Given the description of an element on the screen output the (x, y) to click on. 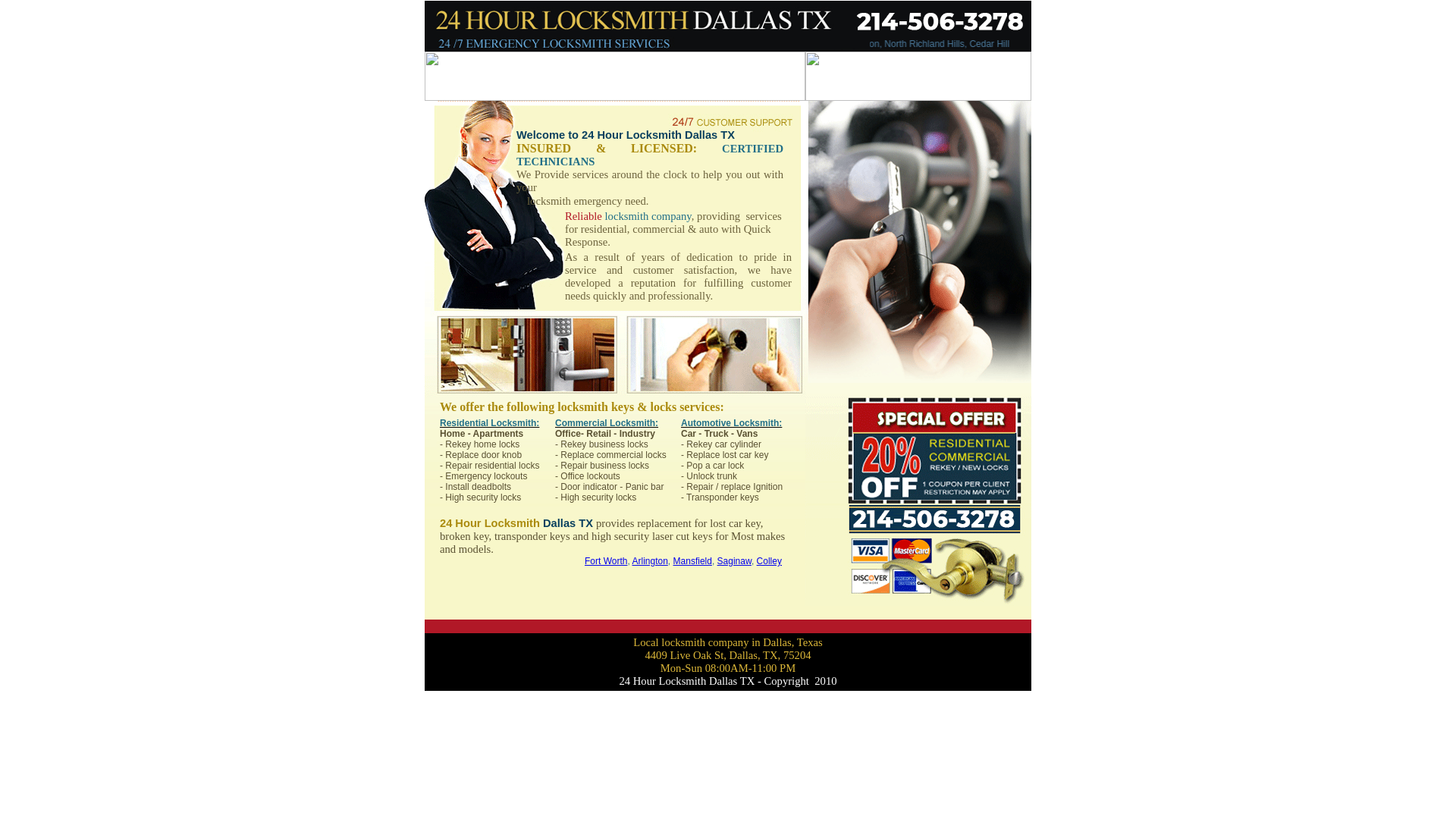
Haltom city Element type: text (531, 560)
Arlington Element type: text (333, 560)
Bedford Element type: text (720, 560)
Denton Element type: text (687, 560)
Euless Element type: text (654, 560)
Mansfield Element type: text (374, 560)
Fort Worth Element type: text (290, 560)
Colleyville Element type: text (456, 560)
Keller Element type: text (493, 560)
Saginaw Element type: text (415, 560)
North Richland Hills Element type: text (596, 560)
Grapevine Element type: text (762, 560)
